Given the description of an element on the screen output the (x, y) to click on. 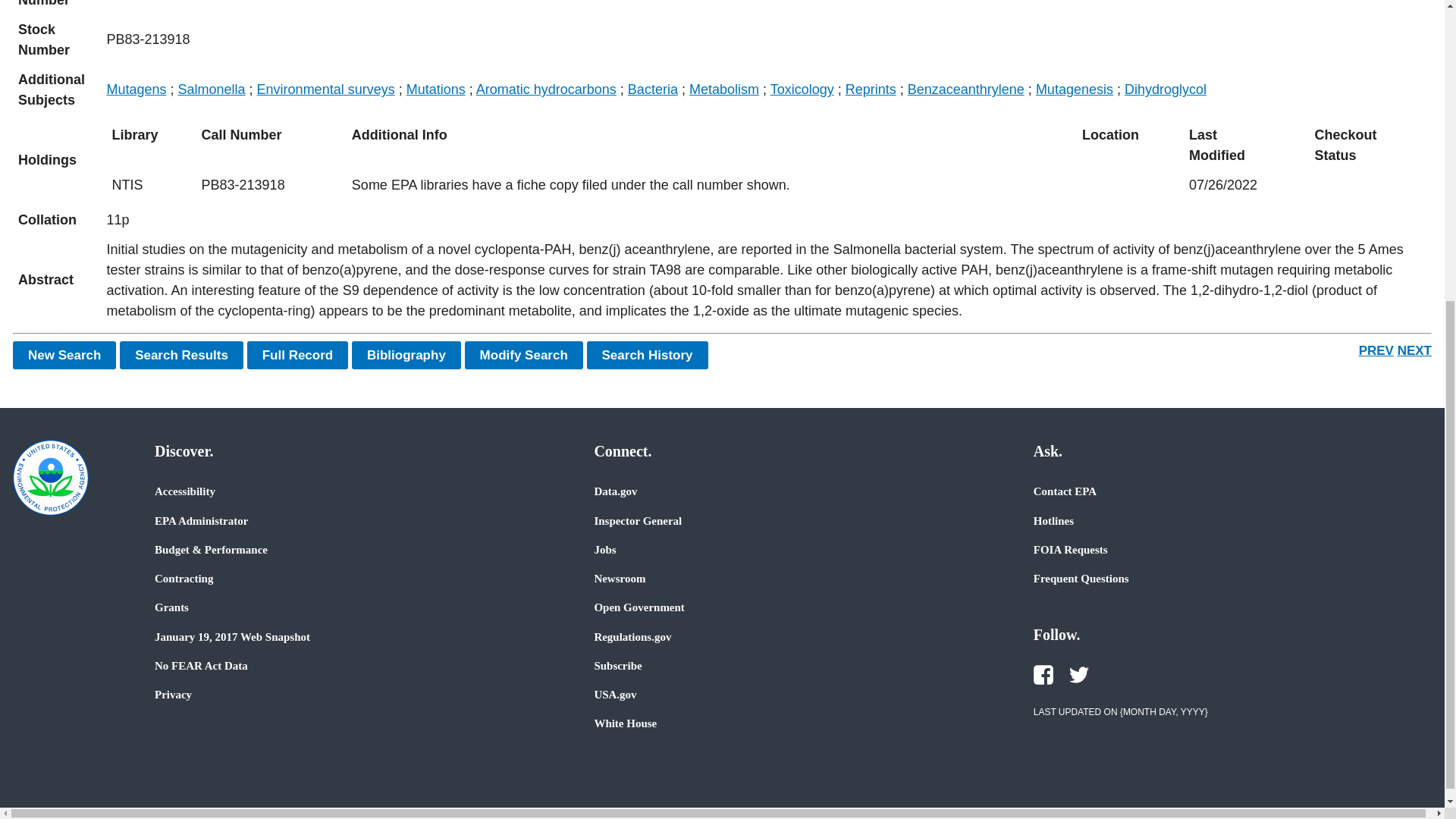
Mutagens (135, 89)
Aromatic hydrocarbons (545, 89)
Mutations (435, 89)
EPA Administrator (200, 520)
New Search (64, 355)
No FEAR Act Data (200, 665)
Contracting (183, 578)
Grants (171, 607)
Search History (646, 355)
NEXT (1414, 350)
